Given the description of an element on the screen output the (x, y) to click on. 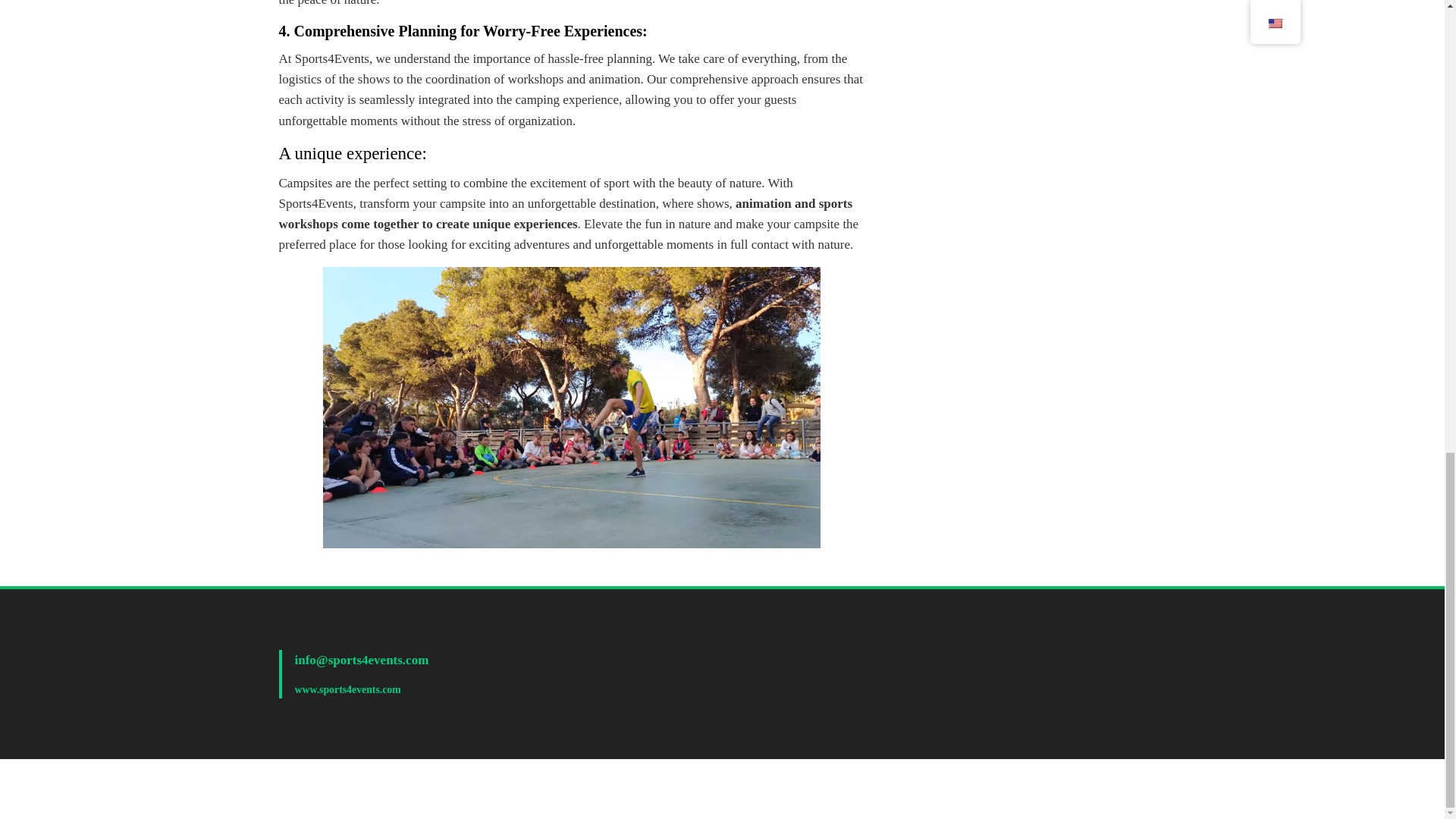
WordPress Theme - Total (738, 788)
